Given the description of an element on the screen output the (x, y) to click on. 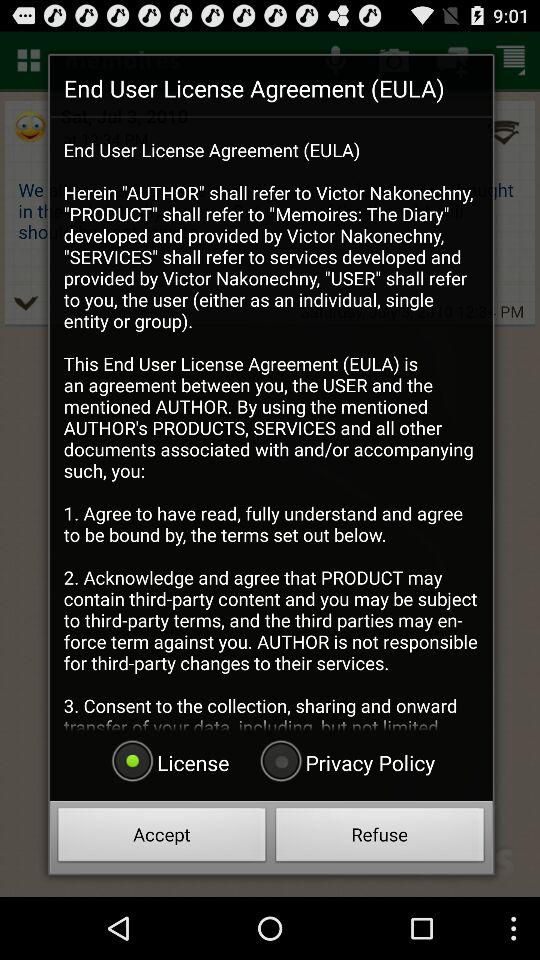
choose button next to the refuse button (162, 837)
